Given the description of an element on the screen output the (x, y) to click on. 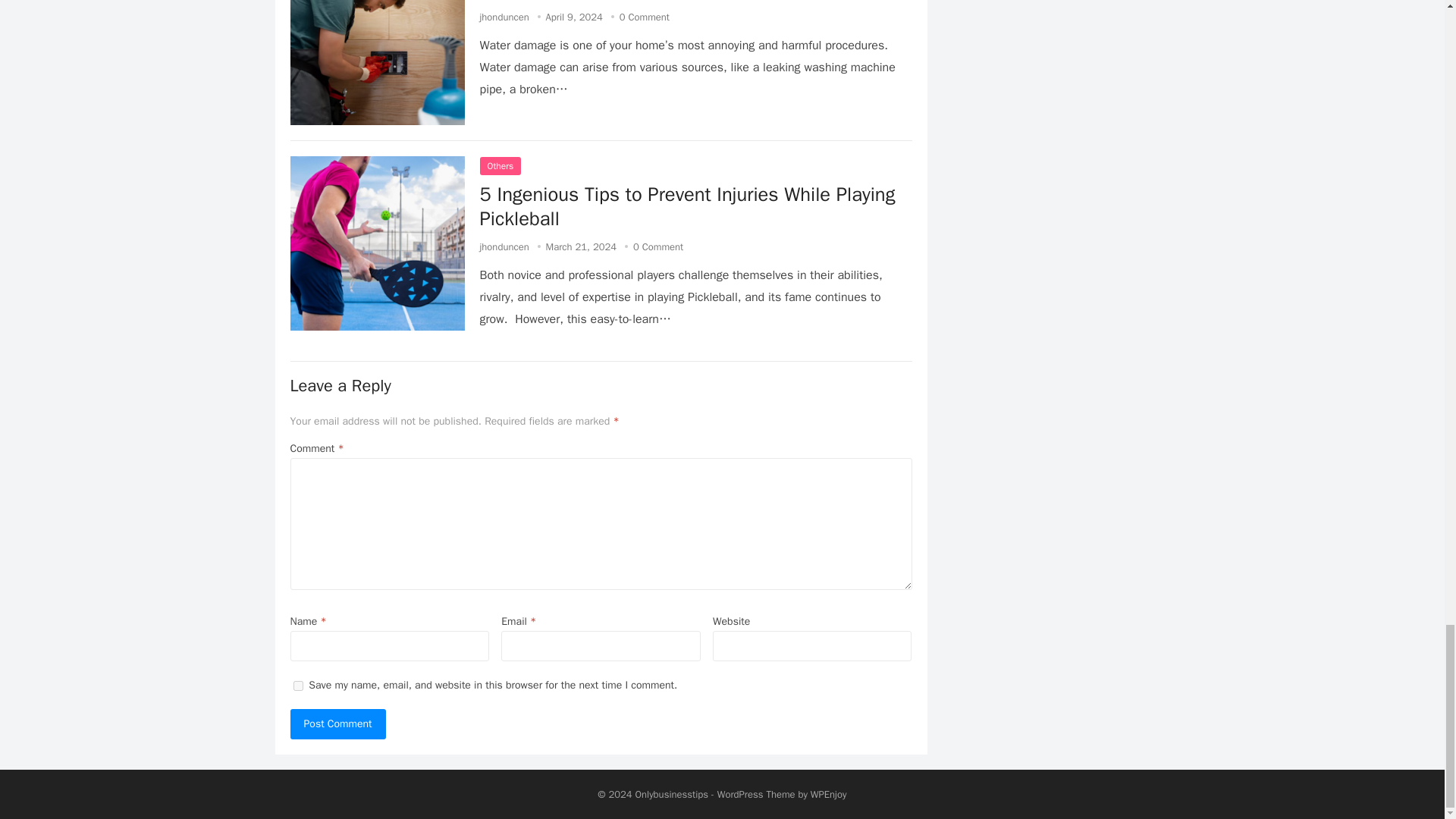
Posts by jhonduncen (503, 16)
Post Comment (337, 724)
Posts by jhonduncen (503, 246)
yes (297, 685)
